Given the description of an element on the screen output the (x, y) to click on. 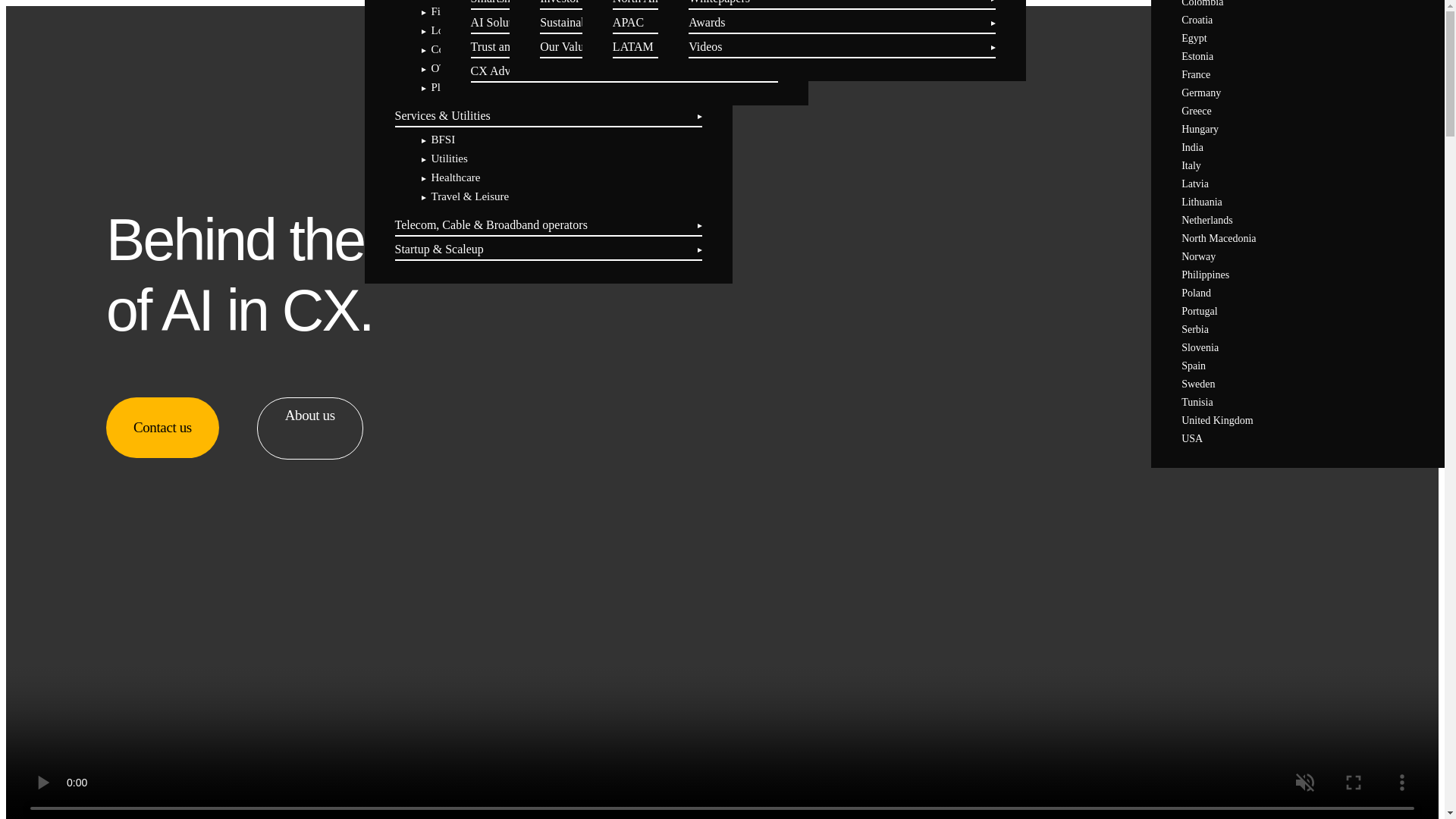
Smartshoring services (524, 2)
Videos (705, 46)
Utilities (448, 158)
Healthcare (455, 177)
LATAM (632, 46)
AI Solutions (501, 21)
OTT (441, 68)
APAC (627, 21)
FinTech (448, 10)
Awards (706, 21)
Consumer durables (474, 49)
BFSI (442, 139)
Investor relations (582, 2)
North America (648, 2)
Logistics (450, 30)
